Given the description of an element on the screen output the (x, y) to click on. 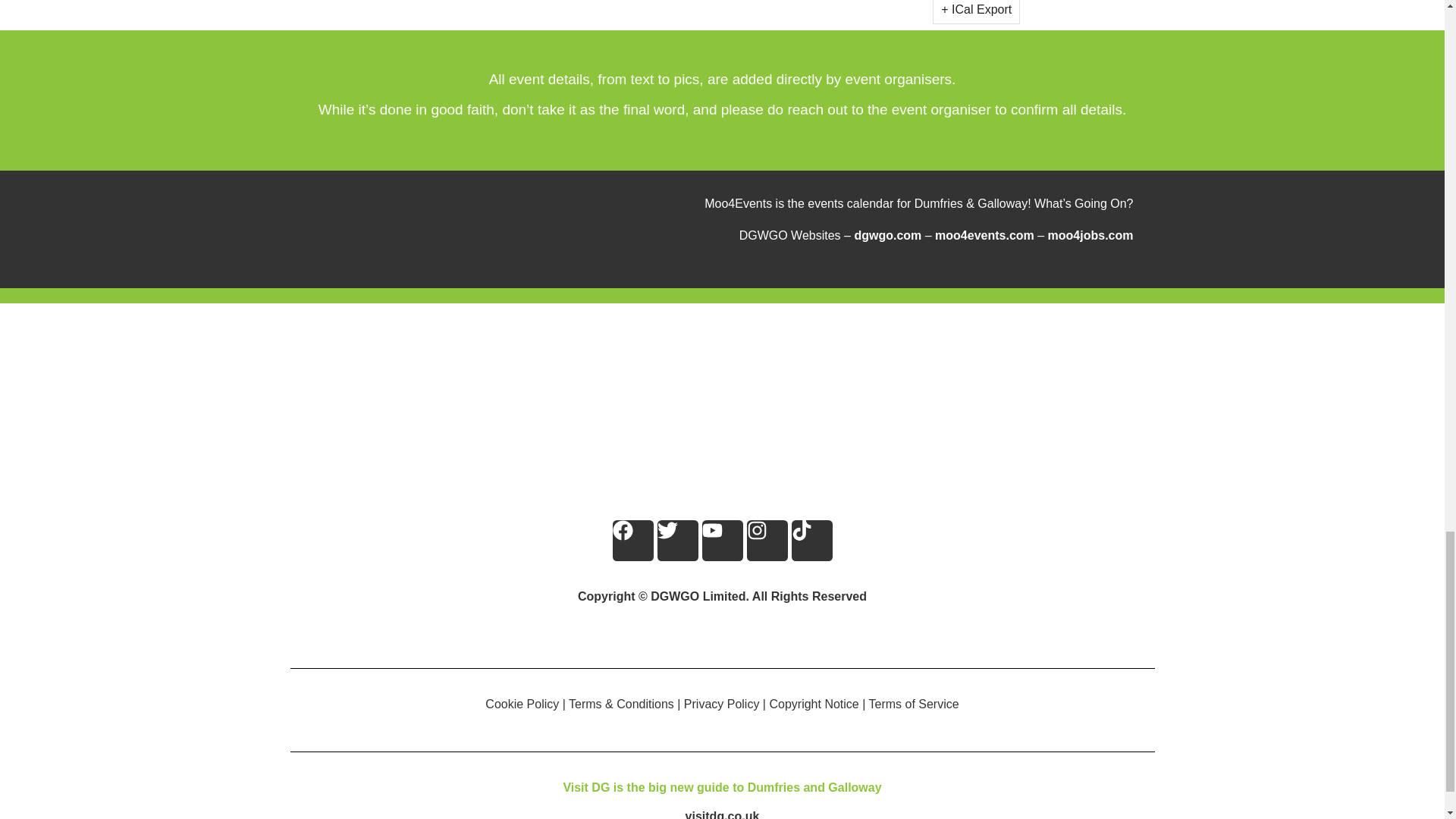
moo4events.com (983, 235)
dgwgo.com (887, 235)
Download .ics file (975, 9)
